Given the description of an element on the screen output the (x, y) to click on. 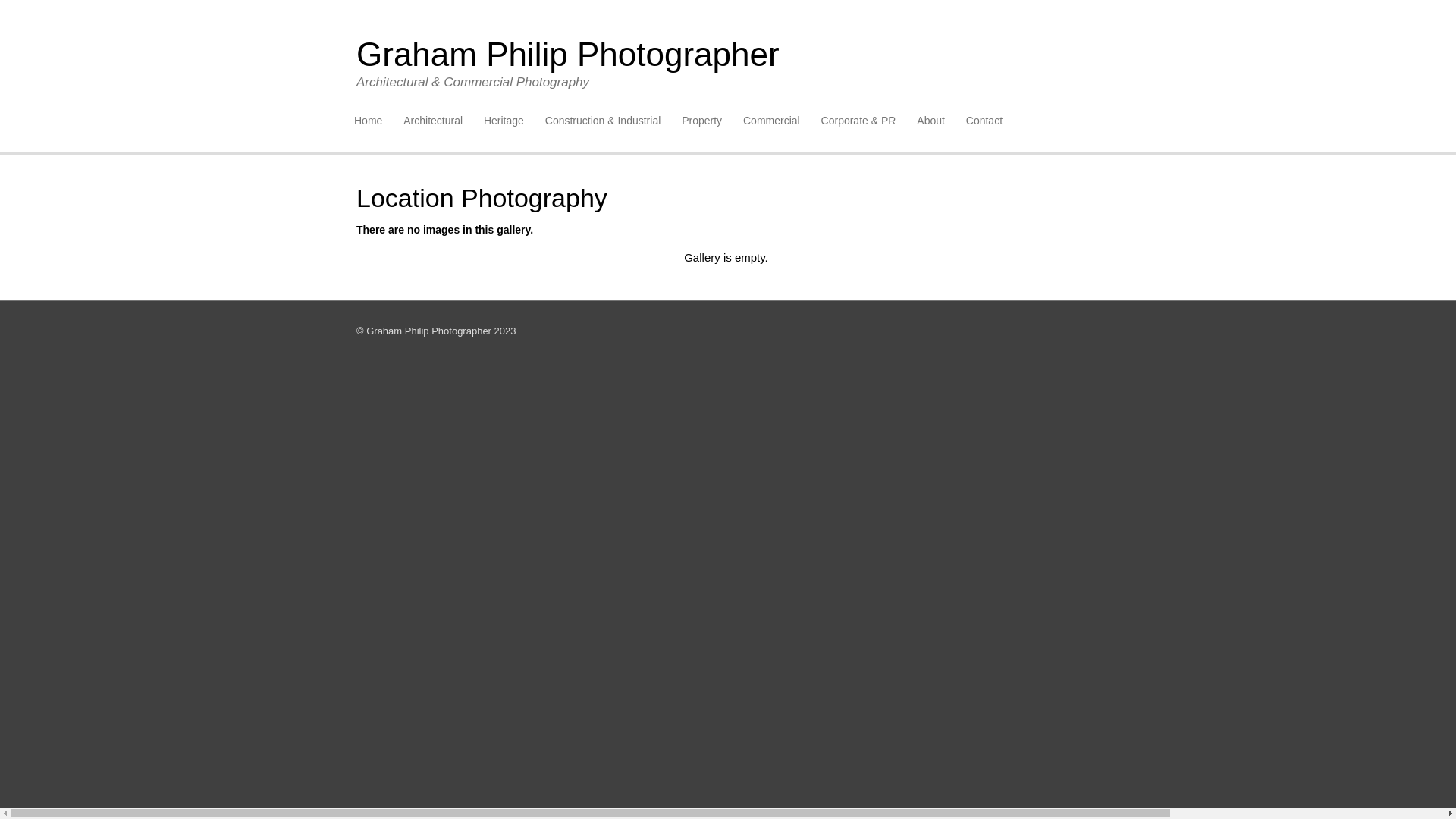
Construction & Industrial Element type: text (603, 120)
Heritage Element type: text (503, 120)
Property Element type: text (701, 120)
Graham Philip Photographer Element type: text (567, 53)
Home Element type: text (368, 120)
Architectural Element type: text (432, 120)
About Element type: text (930, 120)
Contact Element type: text (984, 120)
Corporate & PR Element type: text (858, 120)
Commercial Element type: text (771, 120)
